Given the description of an element on the screen output the (x, y) to click on. 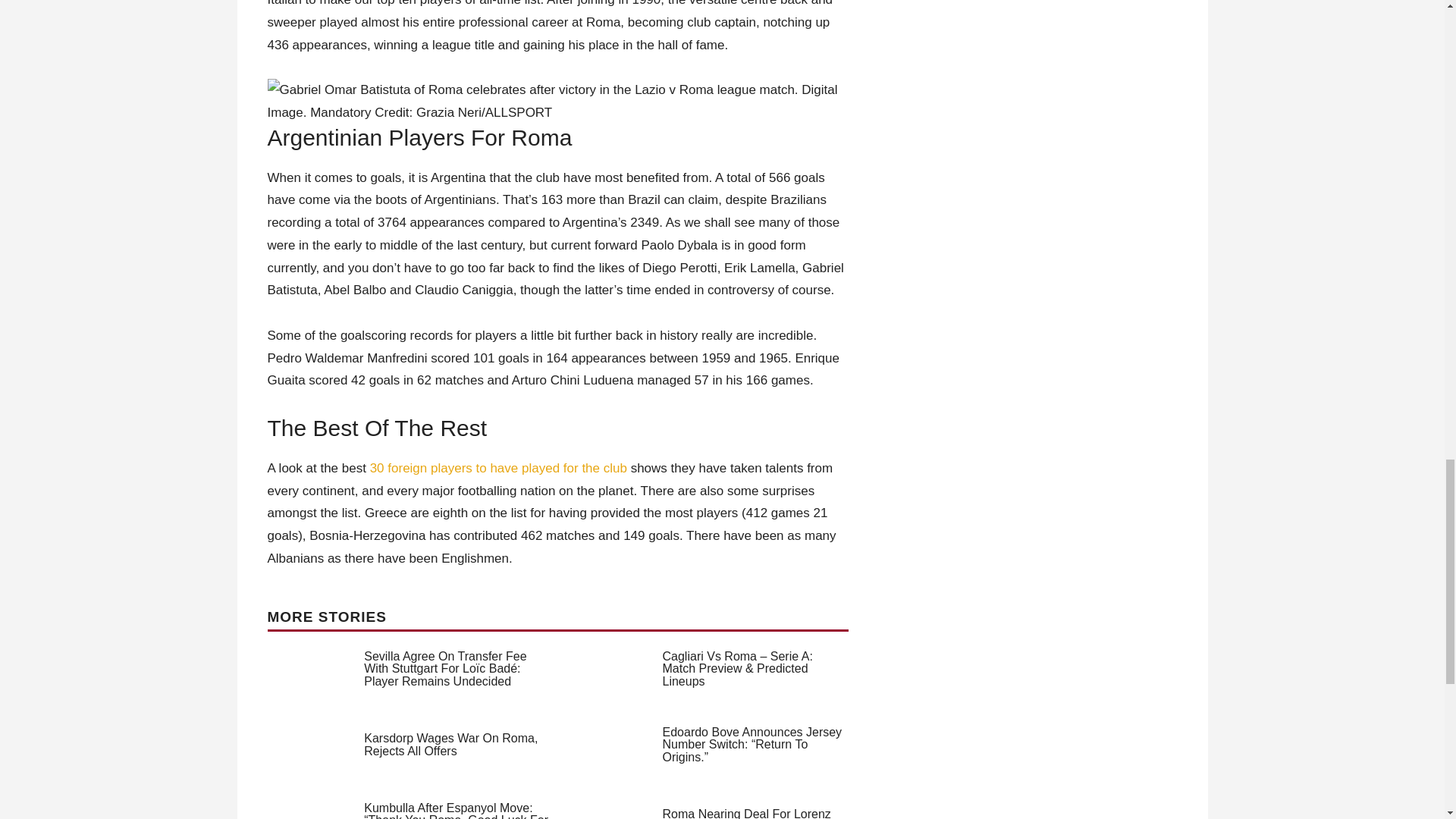
Roma Nearing Deal For Lorenz Assignon (746, 813)
Karsdorp Wages War On Roma, Rejects All Offers (450, 744)
30 foreign players to have played for the club (498, 468)
